Given the description of an element on the screen output the (x, y) to click on. 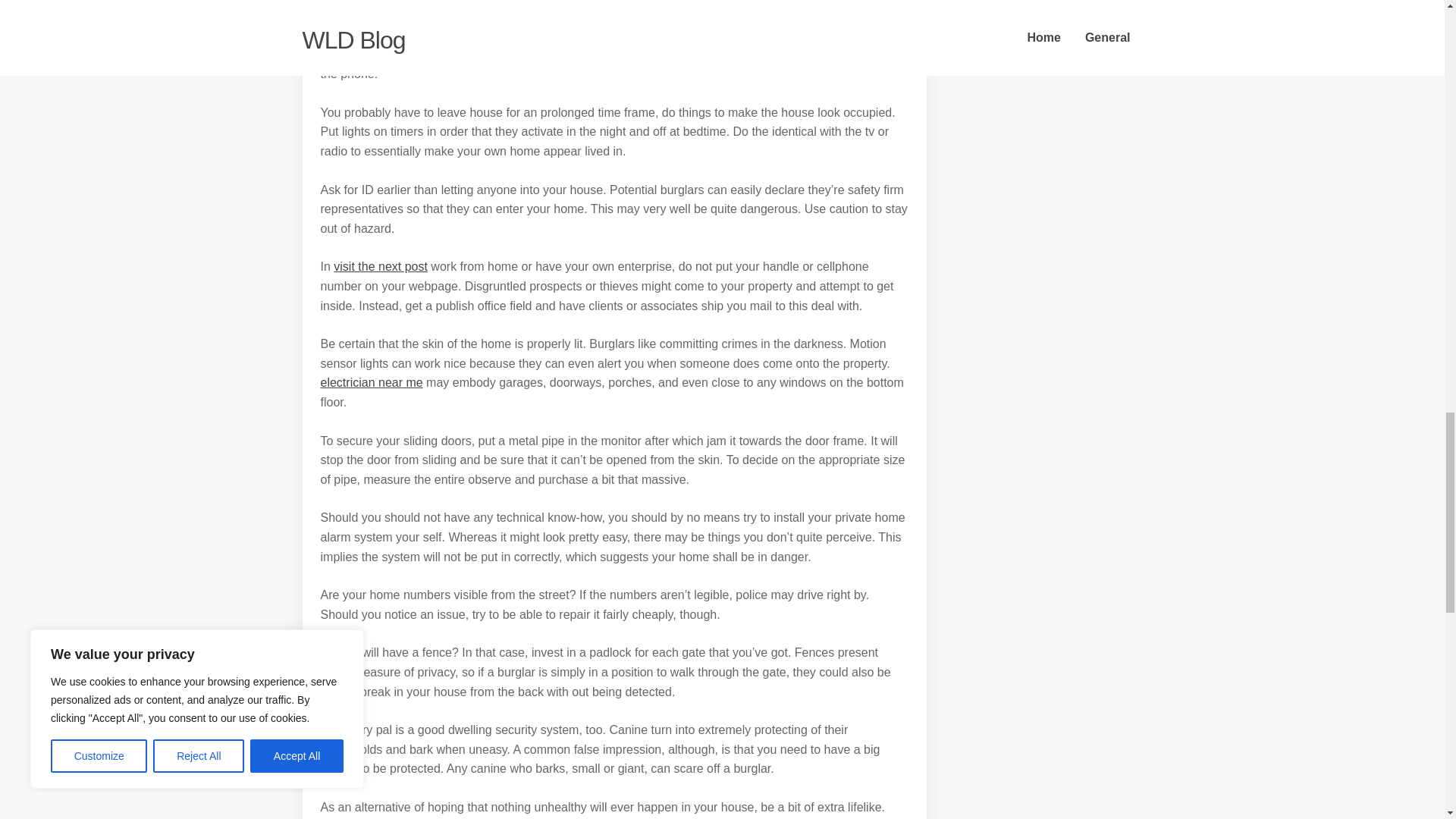
visit the next post (380, 266)
just click the next web page (610, 25)
electrician near me (371, 382)
